Given the description of an element on the screen output the (x, y) to click on. 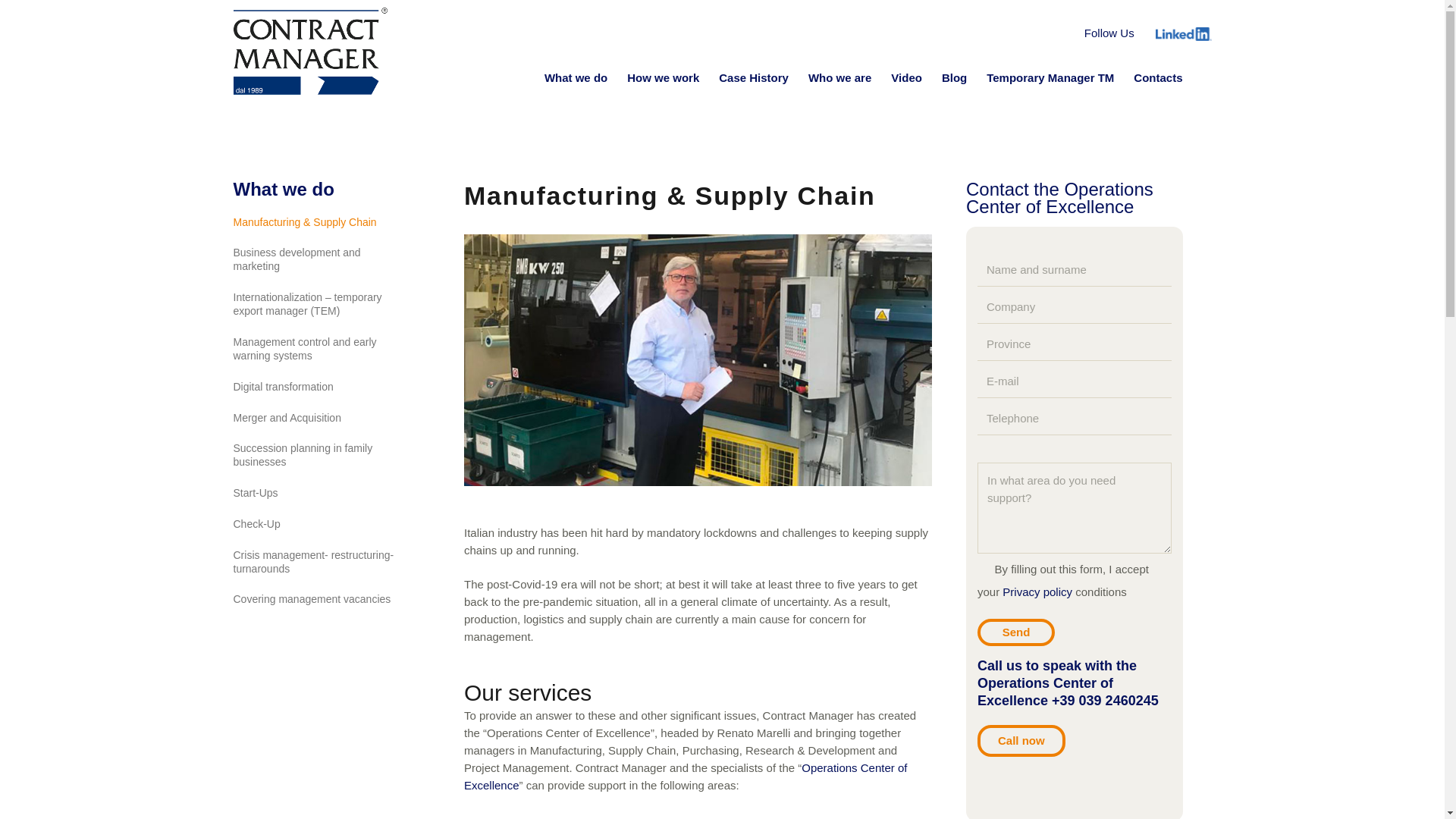
Management control and early warning systems (304, 348)
Blog (953, 77)
Temporary Manager TM (1050, 77)
1 (983, 565)
Send (1015, 632)
Business development and marketing (296, 258)
Case History (753, 77)
Digital transformation (282, 386)
Video (905, 77)
What we do (575, 77)
